Given the description of an element on the screen output the (x, y) to click on. 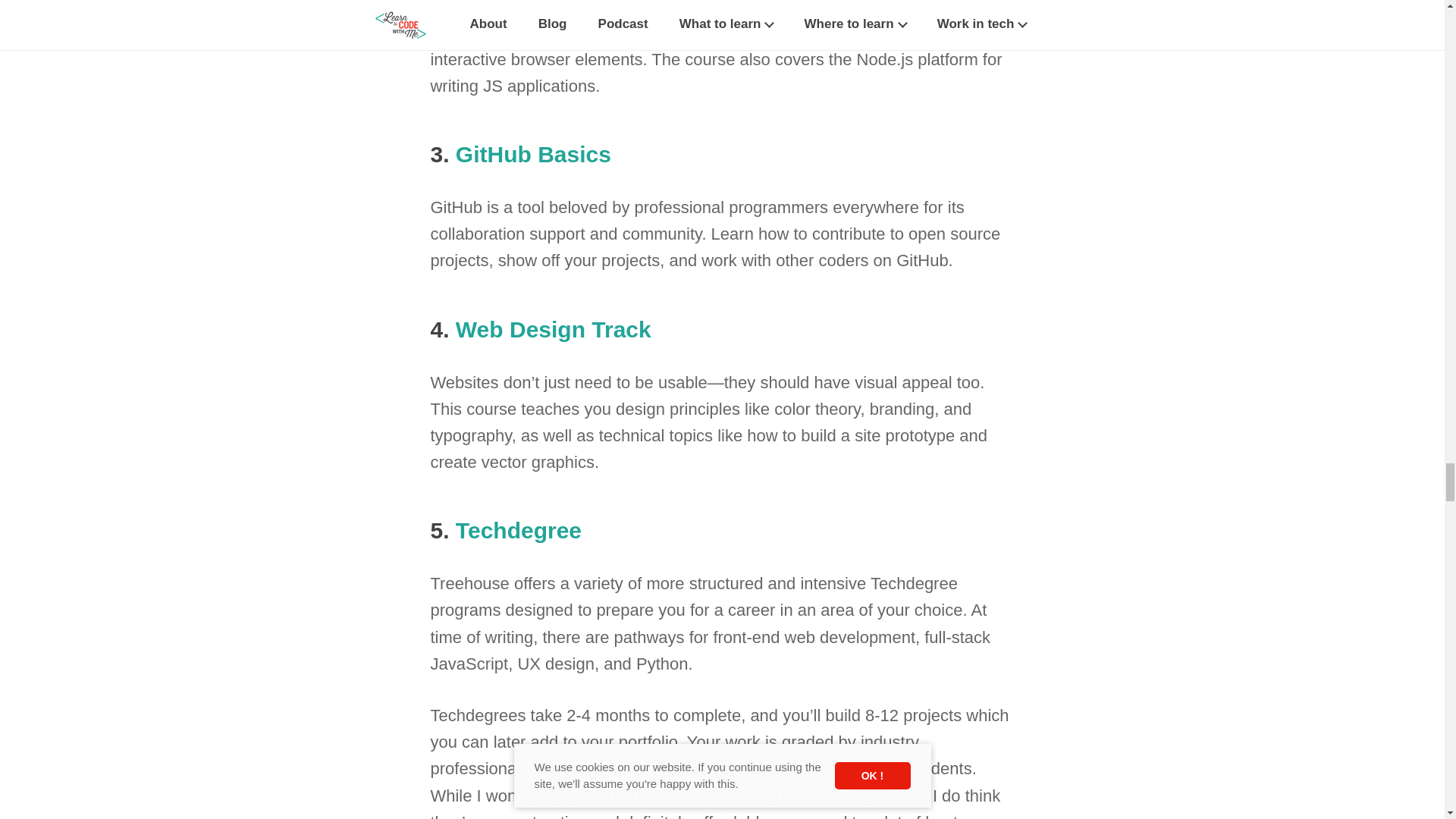
Team Treehouse - Github Basics Course (533, 154)
Team Treehouse - Tech Degree (517, 529)
Team Treehouse - Web Design Track (552, 329)
